Given the description of an element on the screen output the (x, y) to click on. 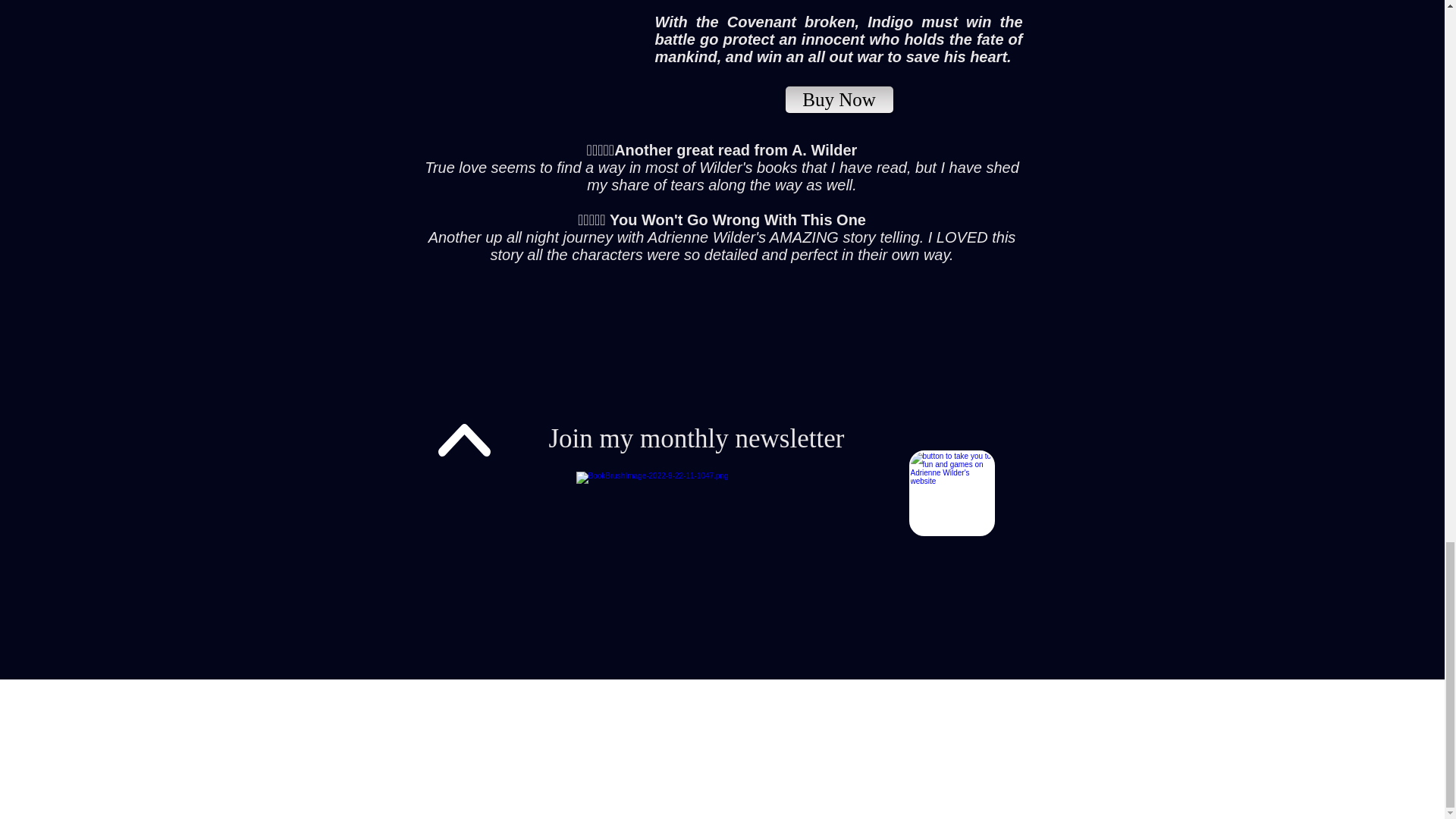
Do you want to play a game? (951, 493)
Buy Now (839, 99)
Another great read from A. Wilder (735, 149)
